Given the description of an element on the screen output the (x, y) to click on. 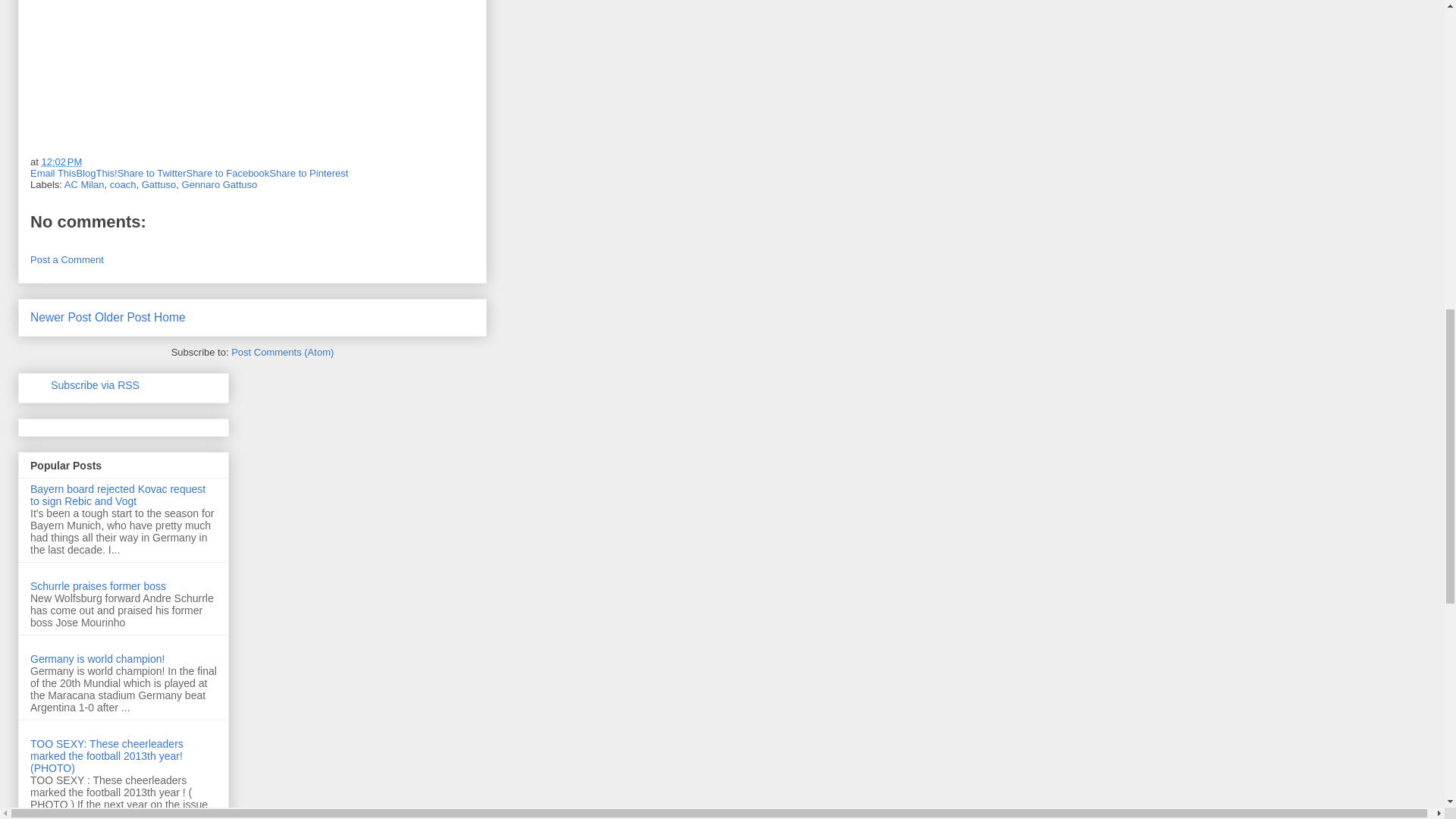
Newer Post (60, 317)
Post a Comment (66, 259)
Share to Facebook (227, 173)
Subscribe via RSS (94, 385)
BlogThis! (95, 173)
Germany is world champion! (97, 658)
Share to Twitter (151, 173)
Share to Twitter (151, 173)
Older Post (122, 317)
Gattuso (158, 184)
Home (170, 317)
Gennaro Gattuso (219, 184)
Share to Pinterest (308, 173)
Email This (52, 173)
AC Milan (84, 184)
